Given the description of an element on the screen output the (x, y) to click on. 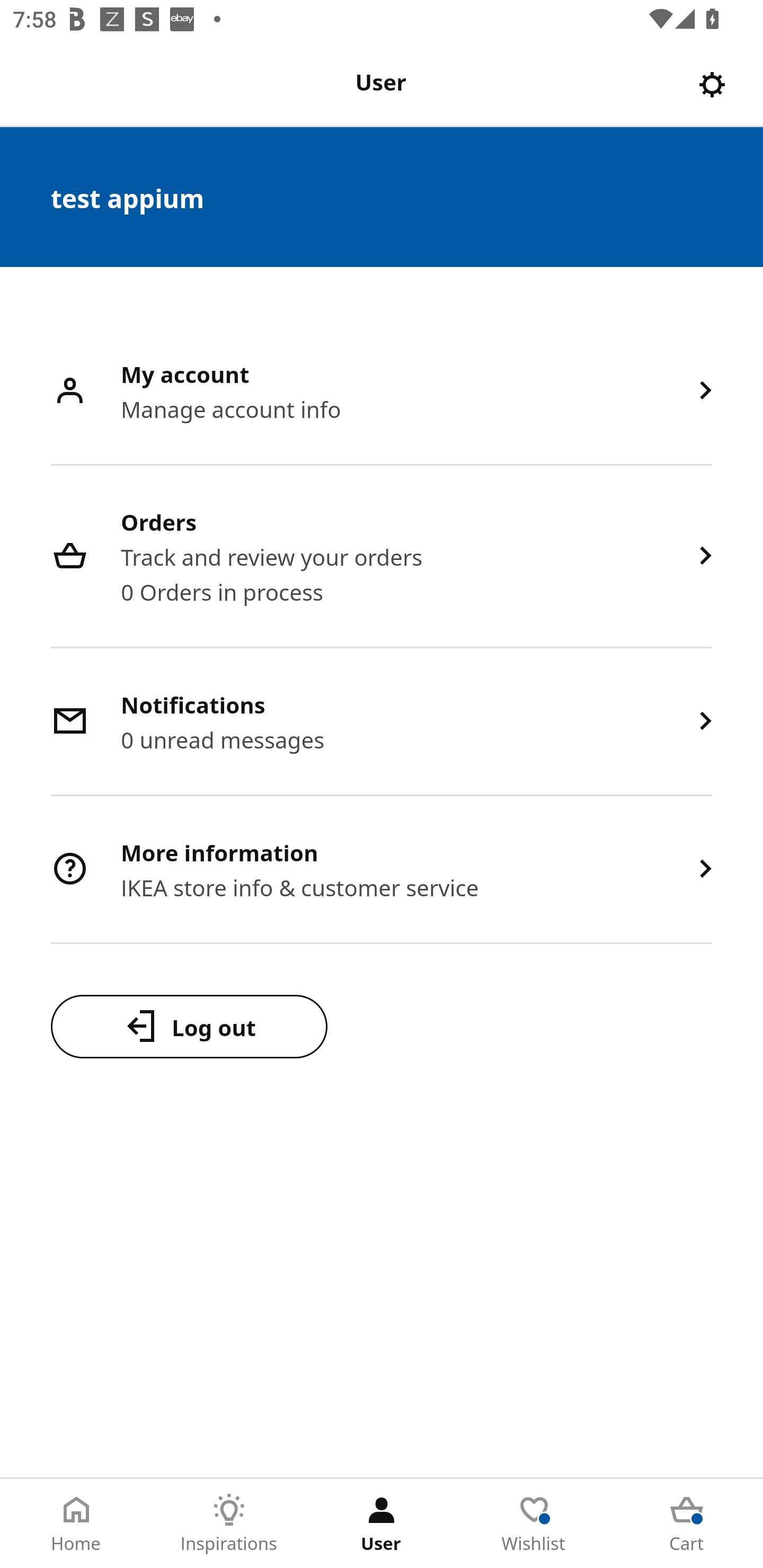
My account
Manage account info (381, 391)
Notifications
0 unread messages (381, 722)
Log out (189, 1026)
Home
Tab 1 of 5 (76, 1522)
Inspirations
Tab 2 of 5 (228, 1522)
User
Tab 3 of 5 (381, 1522)
Wishlist
Tab 4 of 5 (533, 1522)
Cart
Tab 5 of 5 (686, 1522)
